Given the description of an element on the screen output the (x, y) to click on. 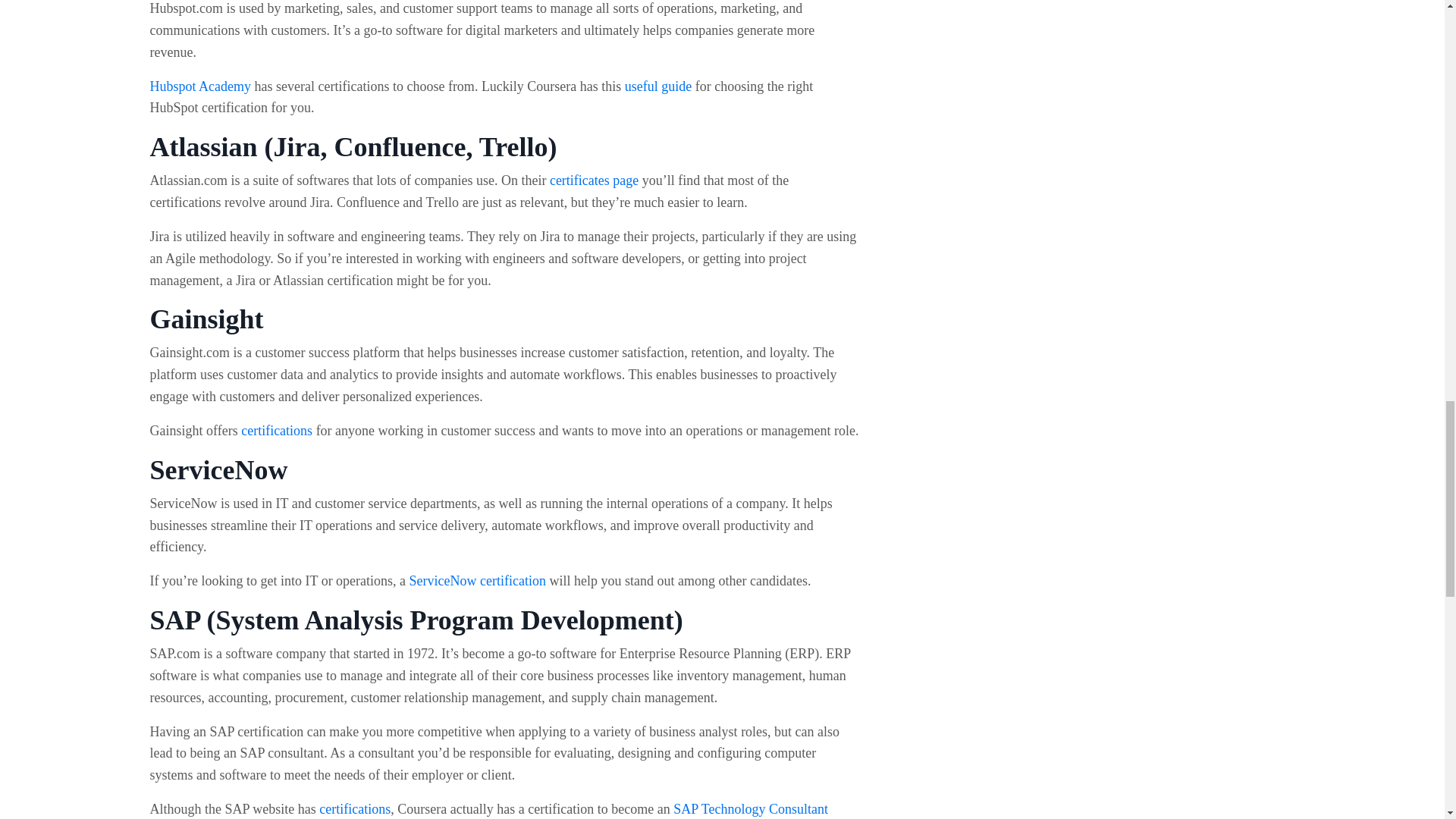
certifications (354, 808)
useful guide (657, 86)
Hubspot Academy (199, 86)
SAP Technology Consultant (750, 808)
ServiceNow certification (477, 580)
certificates page (594, 180)
certifications (277, 430)
